Given the description of an element on the screen output the (x, y) to click on. 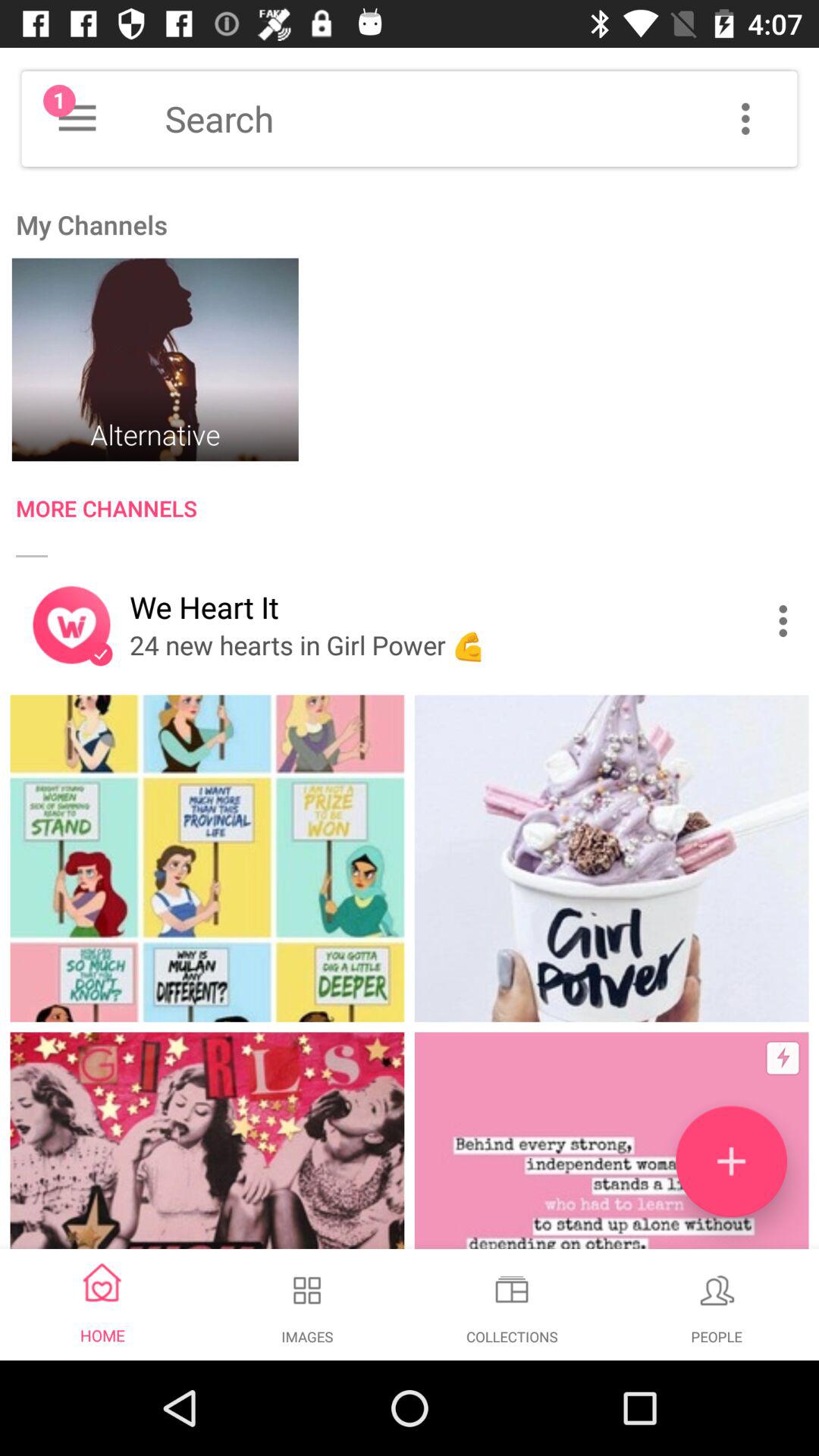
add photo (731, 1161)
